Given the description of an element on the screen output the (x, y) to click on. 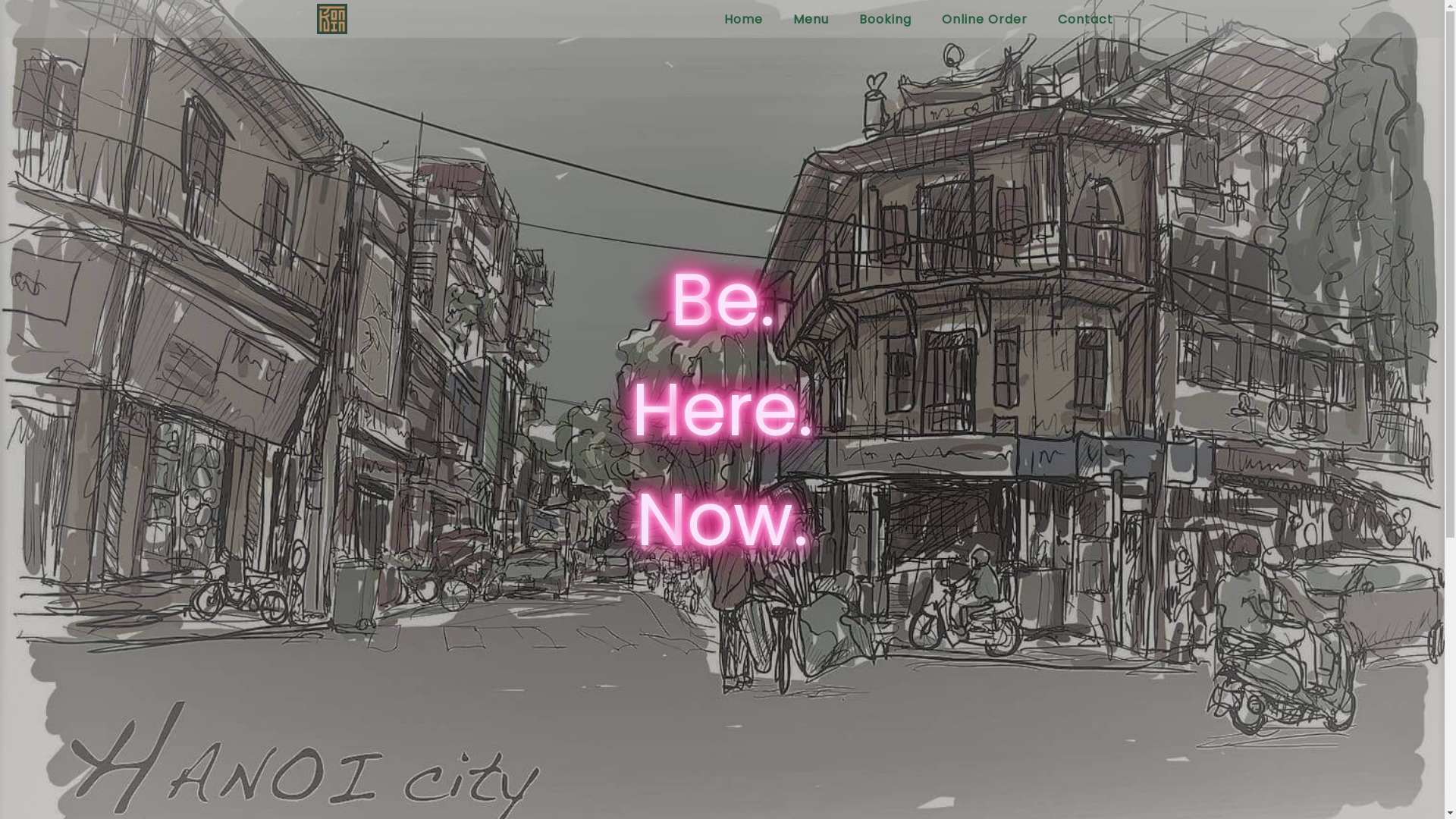
Contact Element type: text (1084, 18)
Menu Element type: text (810, 18)
Booking Element type: text (884, 18)
Home Element type: text (742, 18)
Online Order Element type: text (984, 18)
